Given the description of an element on the screen output the (x, y) to click on. 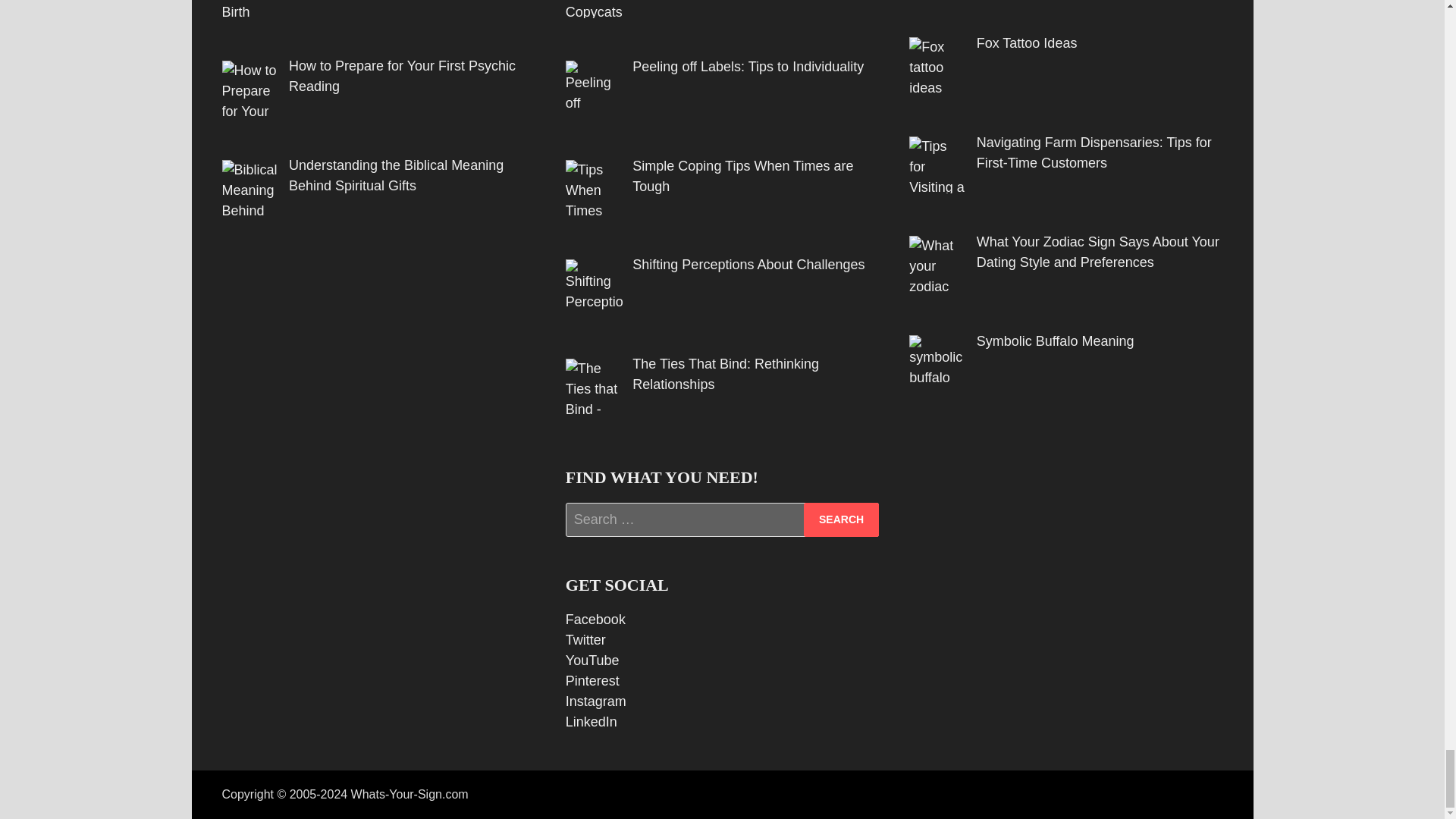
Search (841, 519)
Search (841, 519)
